Given the description of an element on the screen output the (x, y) to click on. 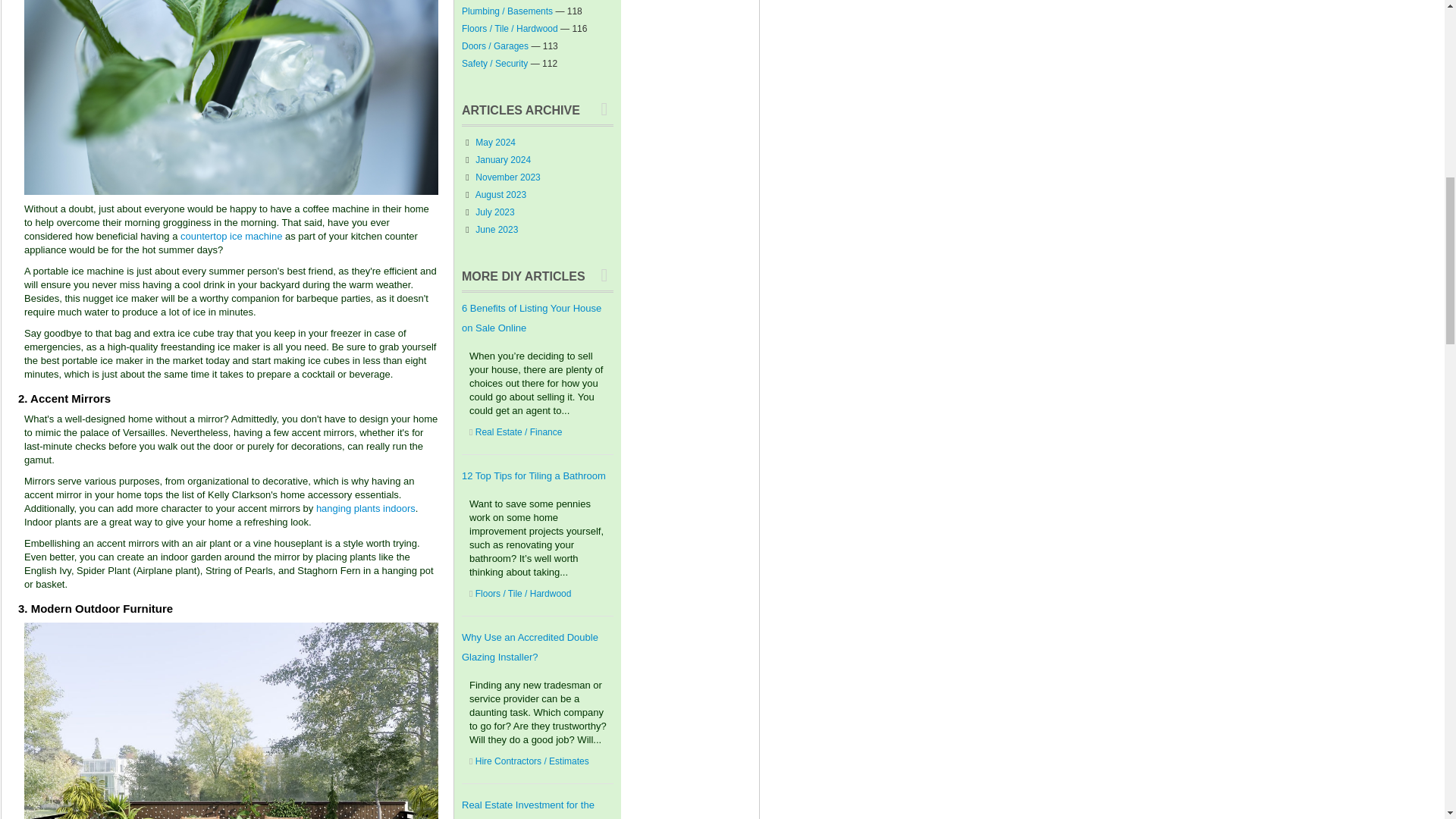
hanging plants indoors (364, 508)
countertop ice machine (231, 235)
